Given the description of an element on the screen output the (x, y) to click on. 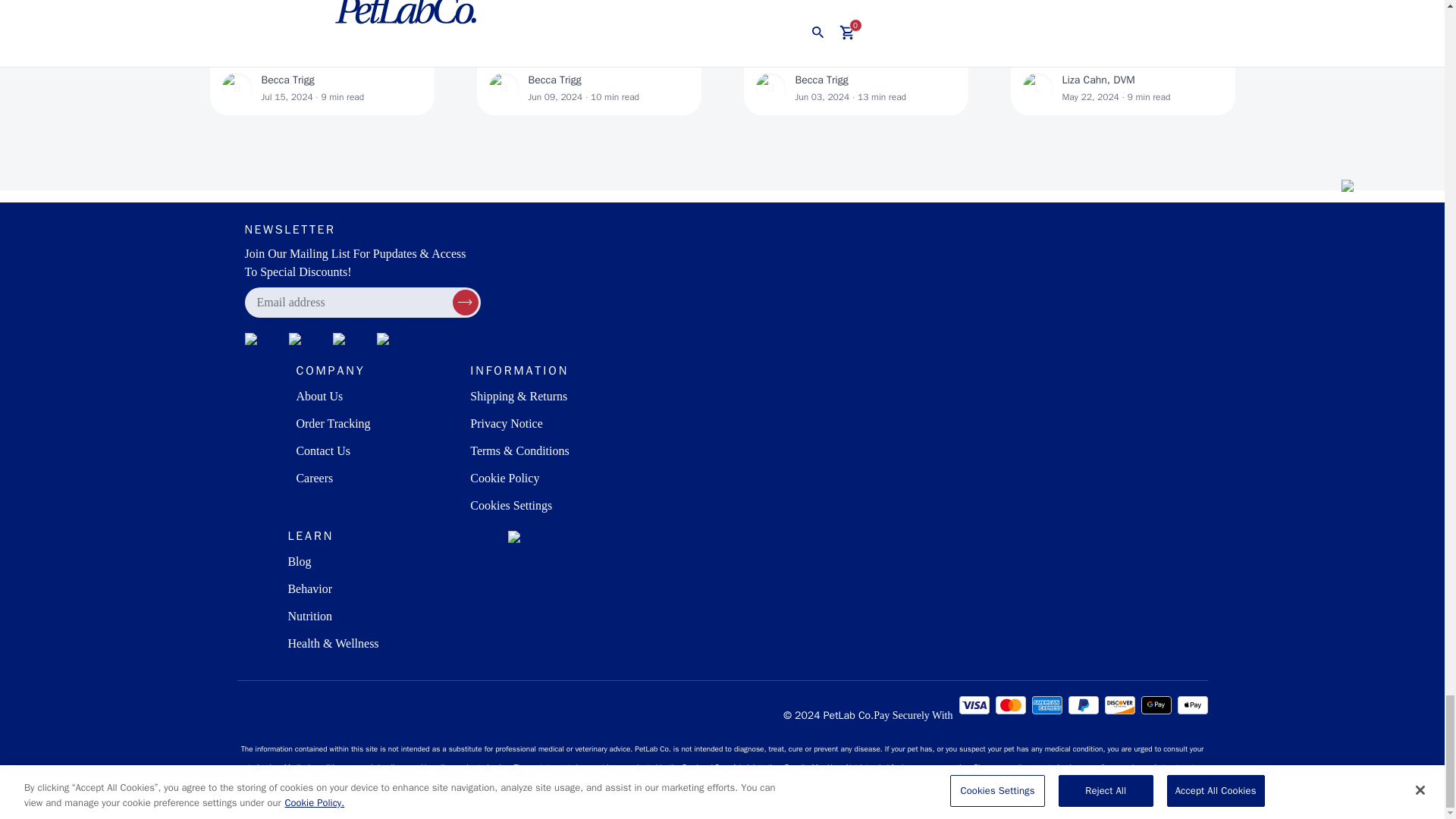
7 Surprising Benefits of Bone Broth for Dogs (855, 45)
8 Foods That Freshen Dog Breath Naturally (587, 45)
